Given the description of an element on the screen output the (x, y) to click on. 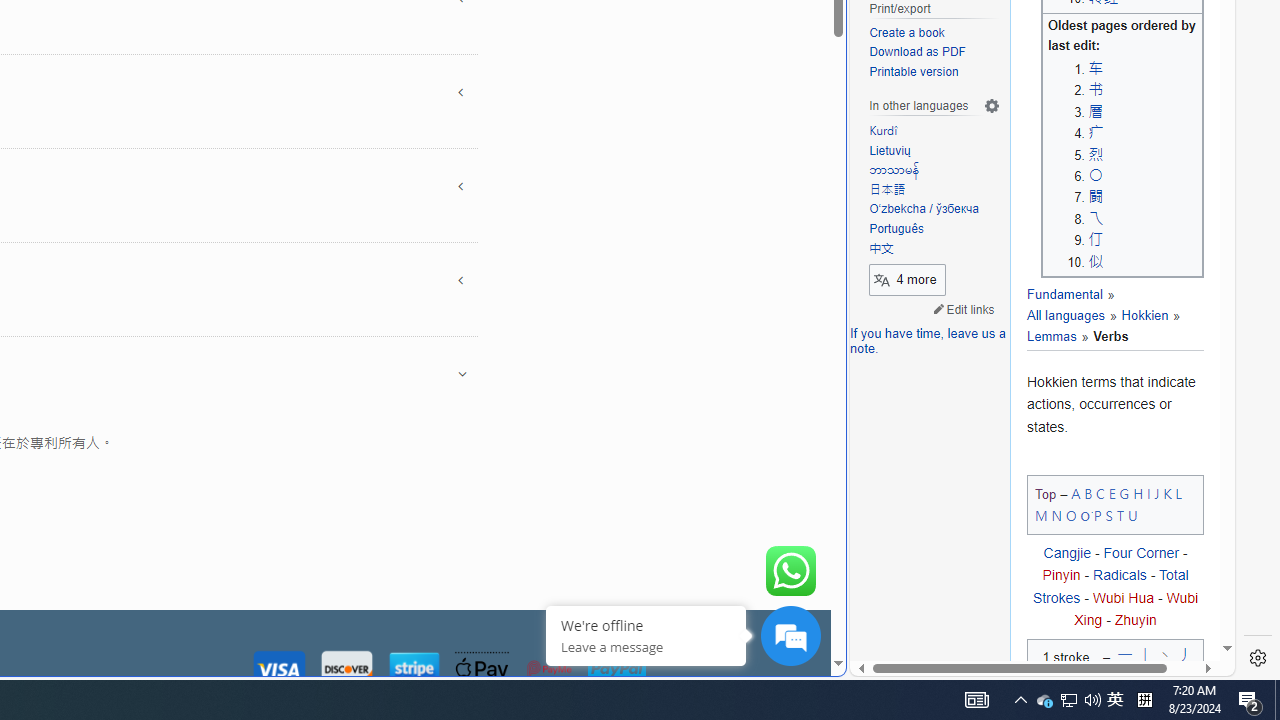
B (1088, 492)
Lemmas (1051, 336)
C (1099, 492)
Fundamental (1064, 295)
I (1147, 492)
Create a book (934, 33)
